Given the description of an element on the screen output the (x, y) to click on. 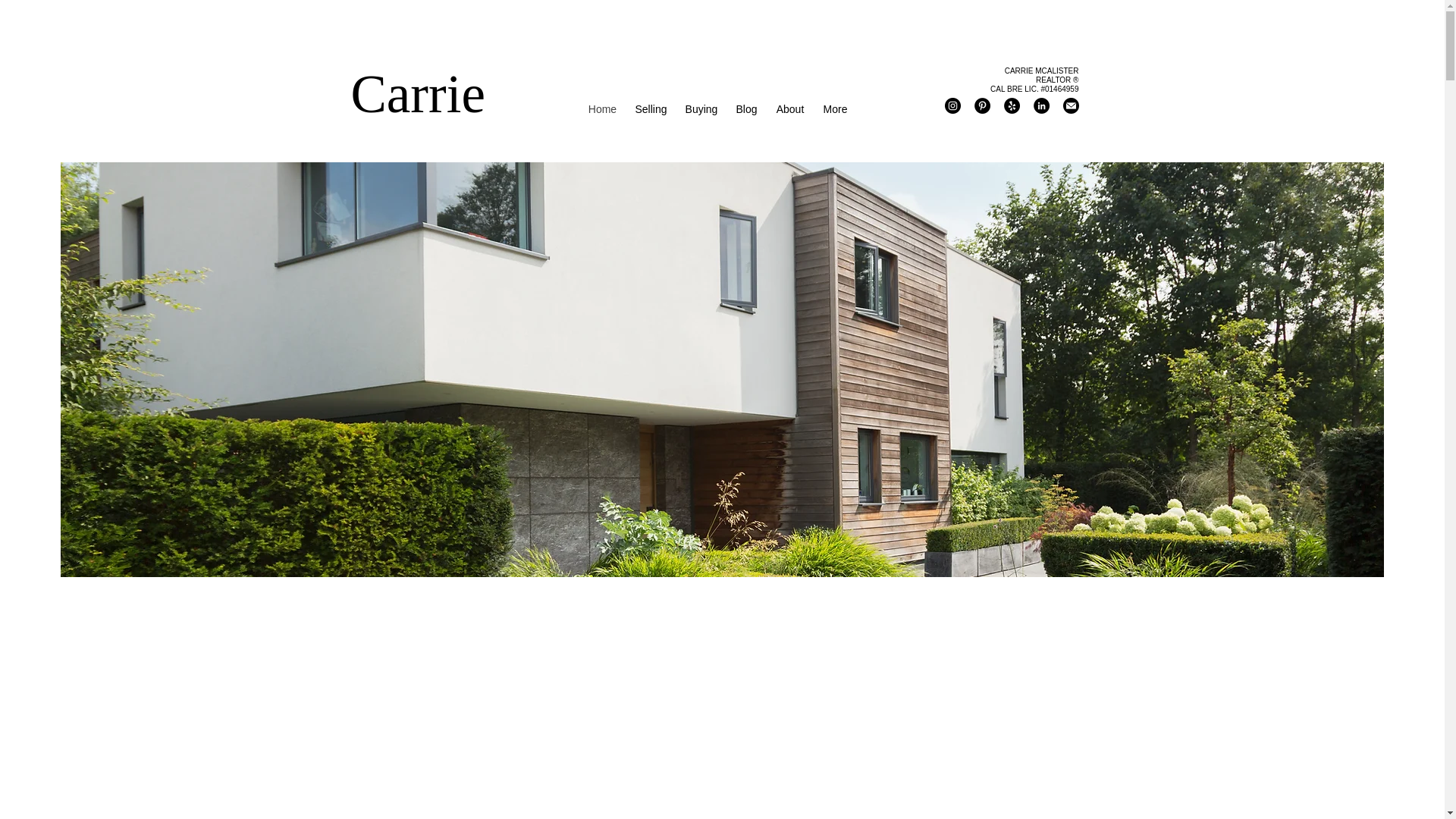
Selling (651, 108)
Blog (745, 108)
CARRIE MCALISTER (1041, 70)
About (789, 108)
Buying (701, 108)
Home (602, 108)
